Given the description of an element on the screen output the (x, y) to click on. 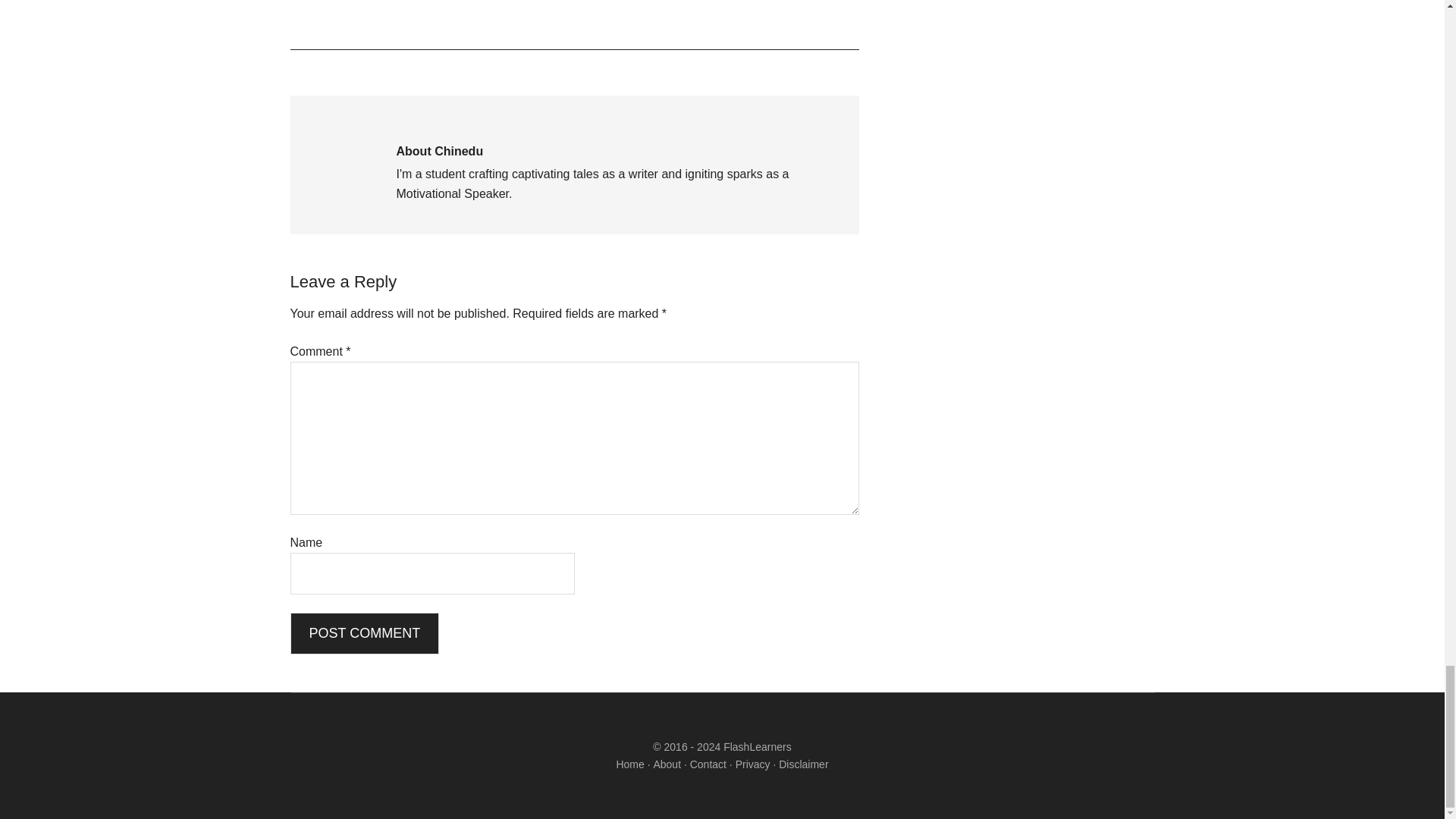
About (666, 764)
Post Comment (364, 633)
Home (629, 764)
Post Comment (364, 633)
Contact (708, 764)
Disclaimer (803, 764)
Privacy (752, 764)
